Given the description of an element on the screen output the (x, y) to click on. 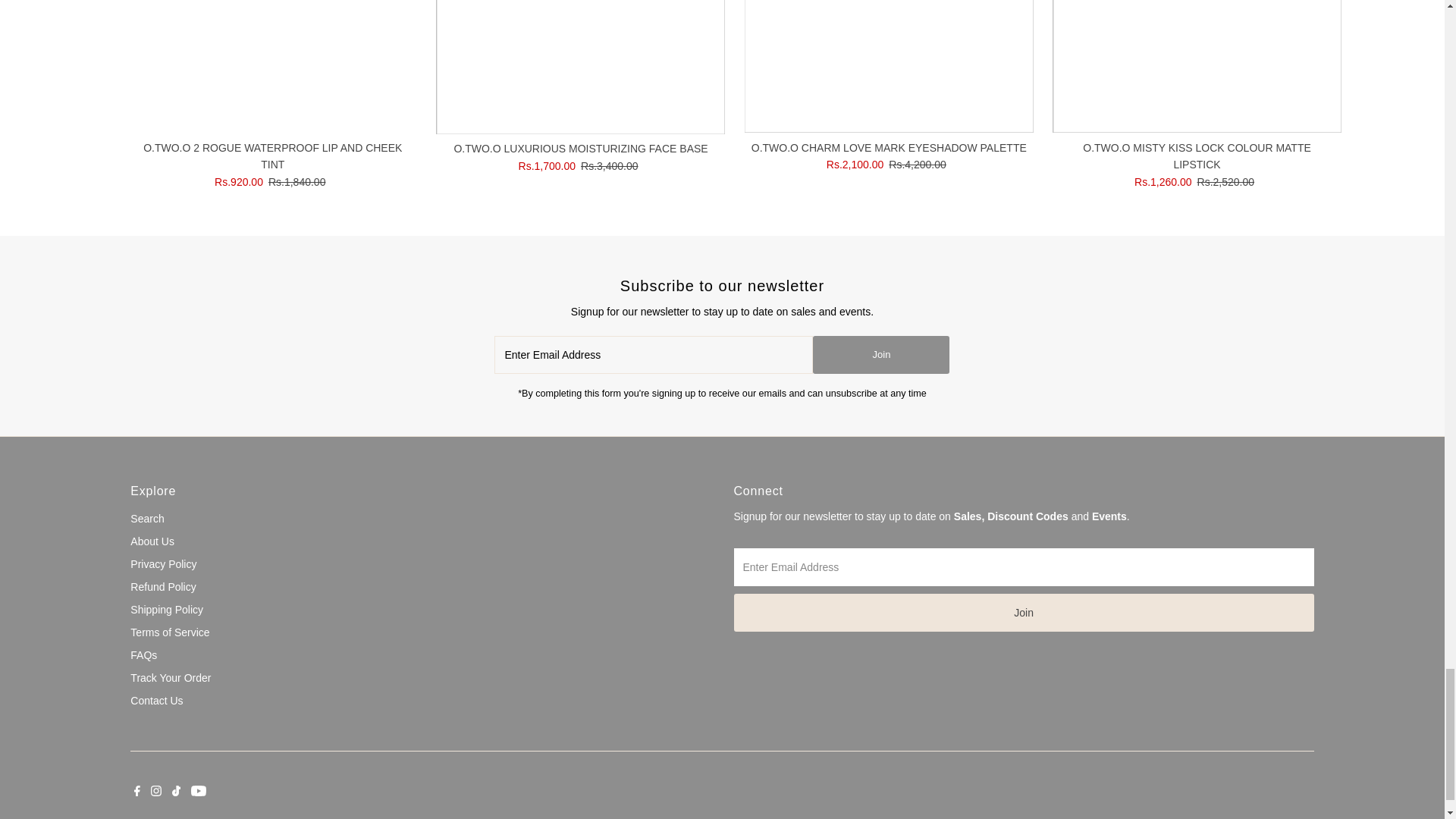
O.TWO.O CHARM LOVE MARK EYESHADOW PALETTE (888, 66)
O.TWO.O MISTY KISS LOCK COLOUR MATTE LIPSTICK (1196, 66)
O.TWO.O 2 ROGUE WATERPROOF LIP AND CHEEK TINT (272, 66)
O.TWO.O LUXURIOUS MOISTURIZING FACE BASE (580, 67)
